Given the description of an element on the screen output the (x, y) to click on. 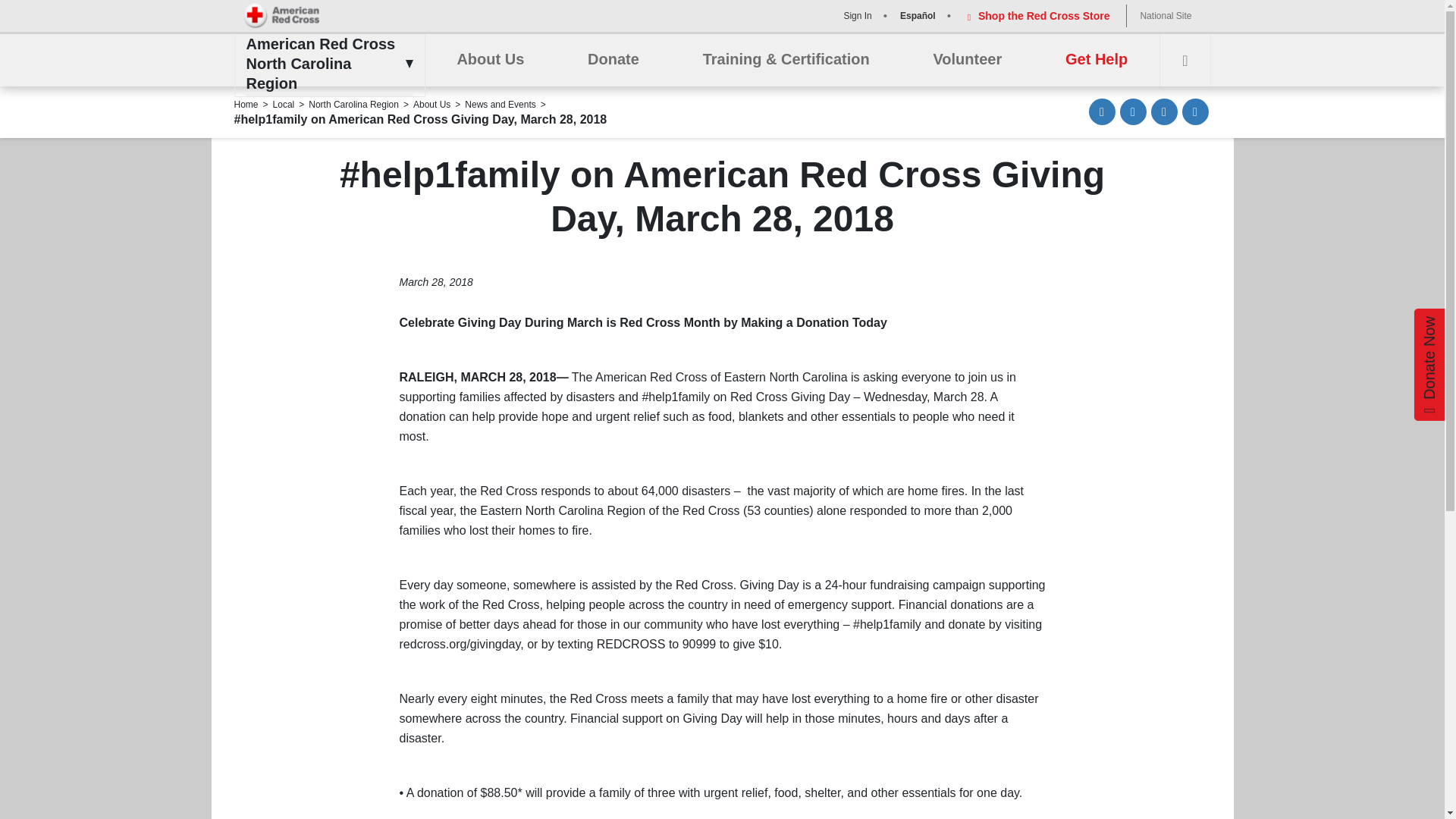
National Site (1164, 15)
American Red Cross North Carolina Region (325, 63)
Share on Facebook (1132, 111)
Share via Email (1102, 111)
Volunteer (967, 59)
About Us (490, 59)
Sign In (855, 15)
Donate (613, 59)
Tweet (1164, 111)
Shop the Red Cross Store (1035, 15)
